Given the description of an element on the screen output the (x, y) to click on. 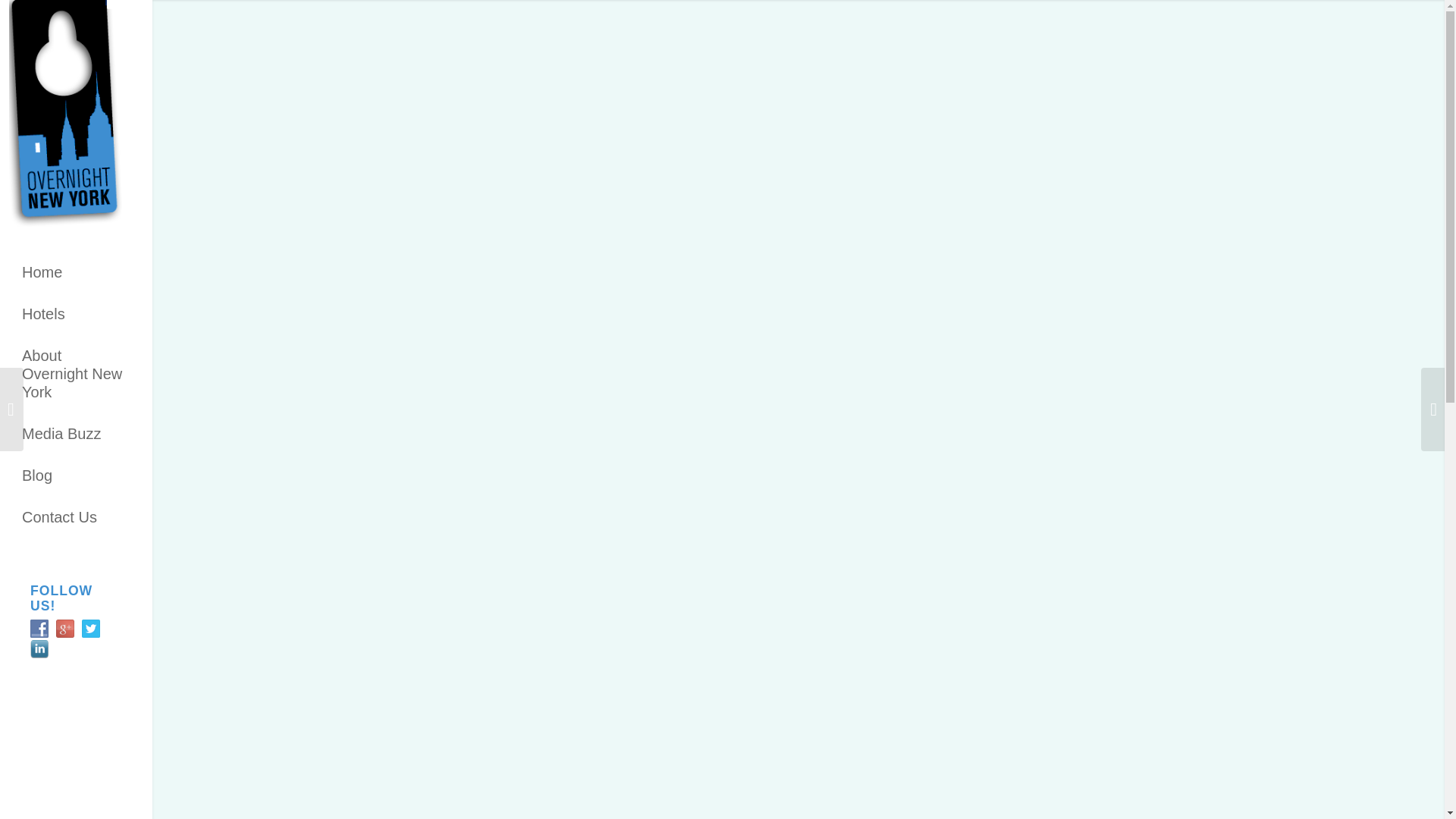
Contact Us (76, 516)
Media Buzz (76, 434)
Follow Us on LinkedIn (39, 648)
About Overnight New York (76, 373)
Blog (76, 475)
Hotels (76, 313)
Follow Us on Twitter (90, 628)
Home (76, 272)
Follow Us on Facebook (39, 628)
